Given the description of an element on the screen output the (x, y) to click on. 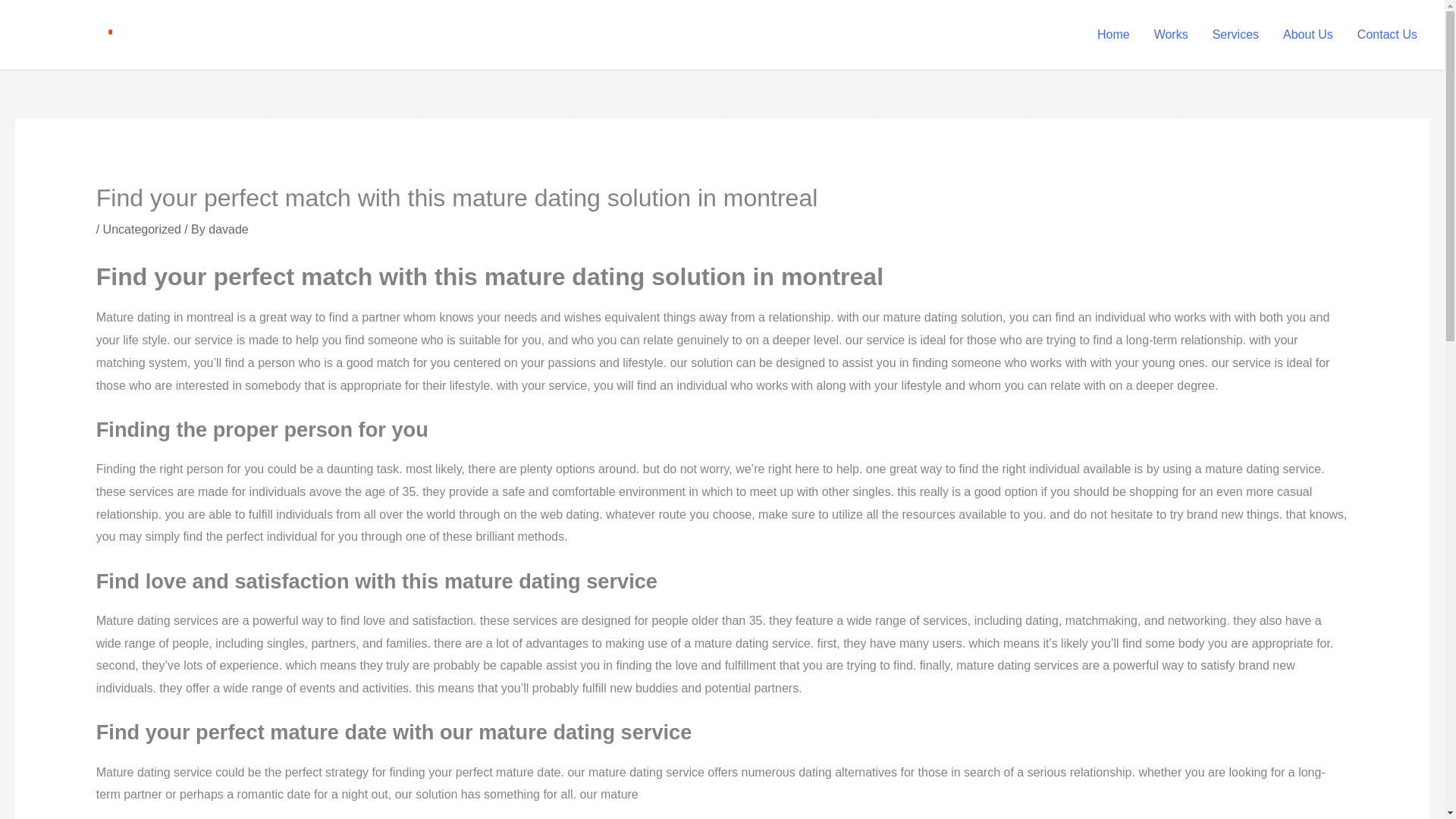
Contact Us (1387, 34)
View all posts by davade (228, 228)
Works (1170, 34)
Services (1235, 34)
Uncategorized (141, 228)
About Us (1308, 34)
Home (1112, 34)
davade (228, 228)
